Given the description of an element on the screen output the (x, y) to click on. 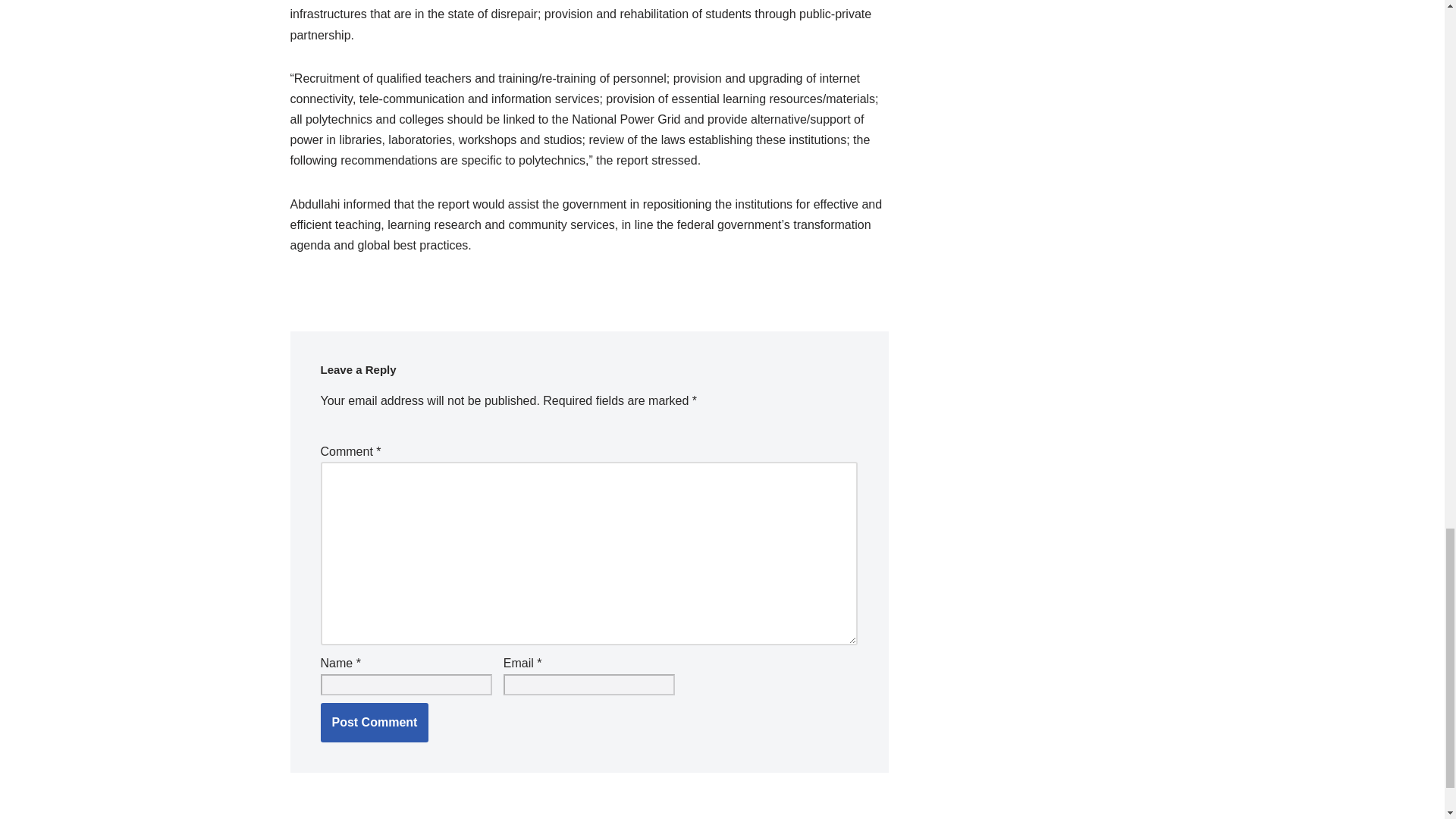
Post Comment (374, 722)
